Given the description of an element on the screen output the (x, y) to click on. 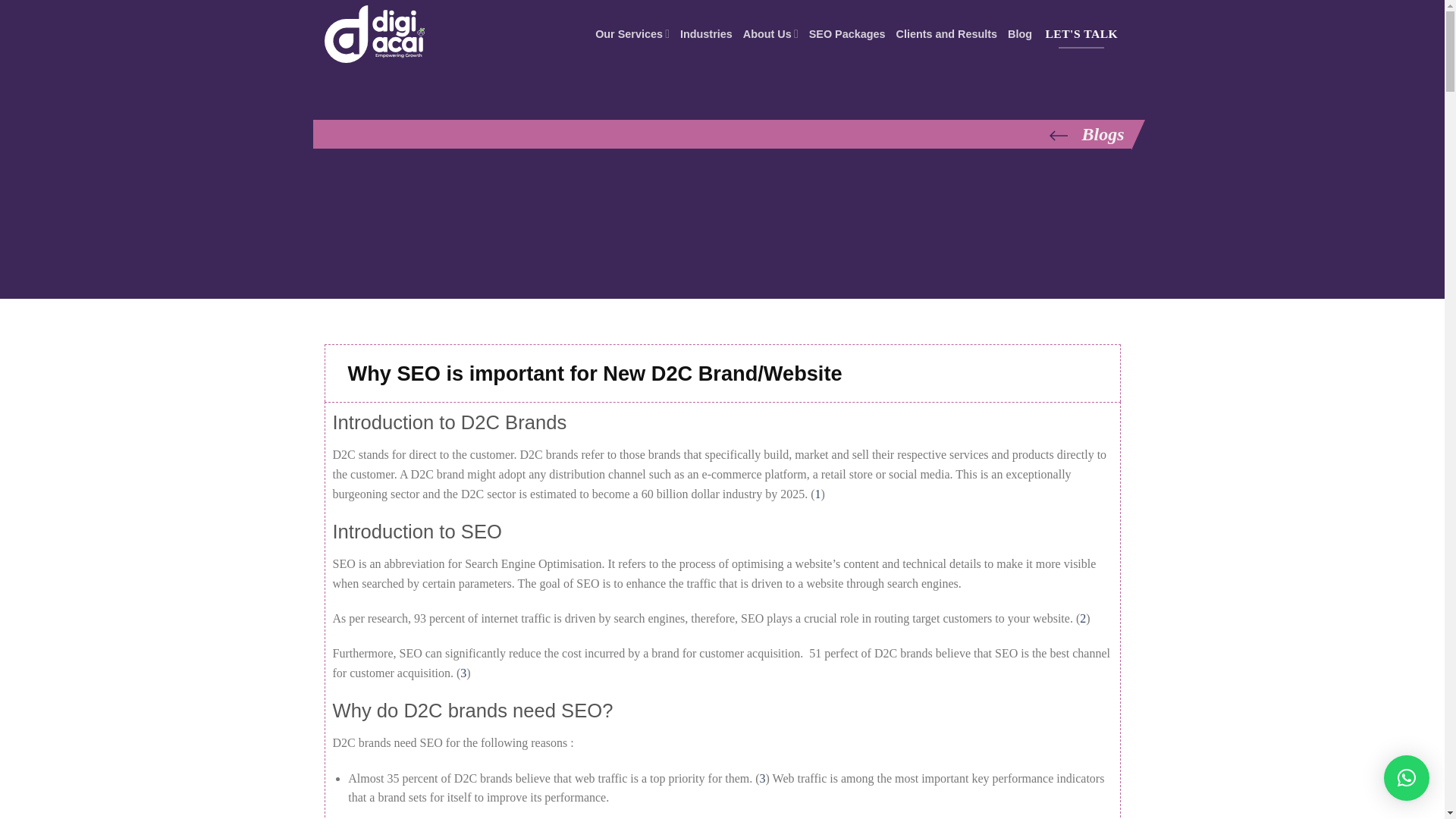
LET'S TALK (1080, 33)
Digi Acai - Empowering Growth (400, 33)
Industries (705, 33)
About Us (769, 33)
SEO Packages (847, 33)
Our Services (632, 33)
   Blogs (718, 133)
Clients and Results (946, 33)
